Given the description of an element on the screen output the (x, y) to click on. 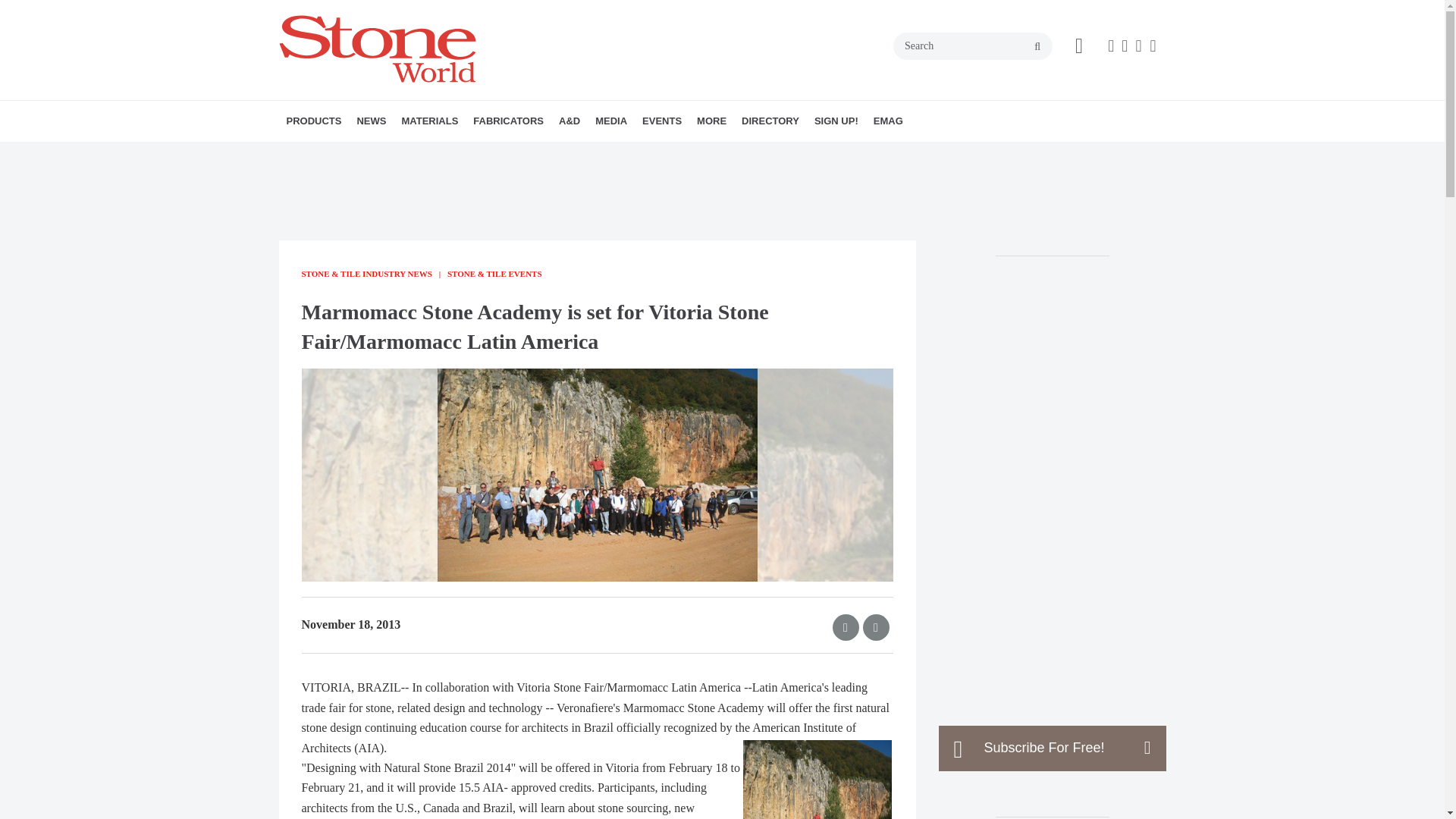
search (1037, 46)
Search (972, 45)
PODCASTS (689, 154)
VIDEOS (682, 154)
INTERIOR DESIGN (659, 154)
MACHINERY (373, 154)
MEDIA (611, 120)
RESIDENTIAL (679, 154)
FABRICATORS (508, 120)
Search (972, 45)
